Given the description of an element on the screen output the (x, y) to click on. 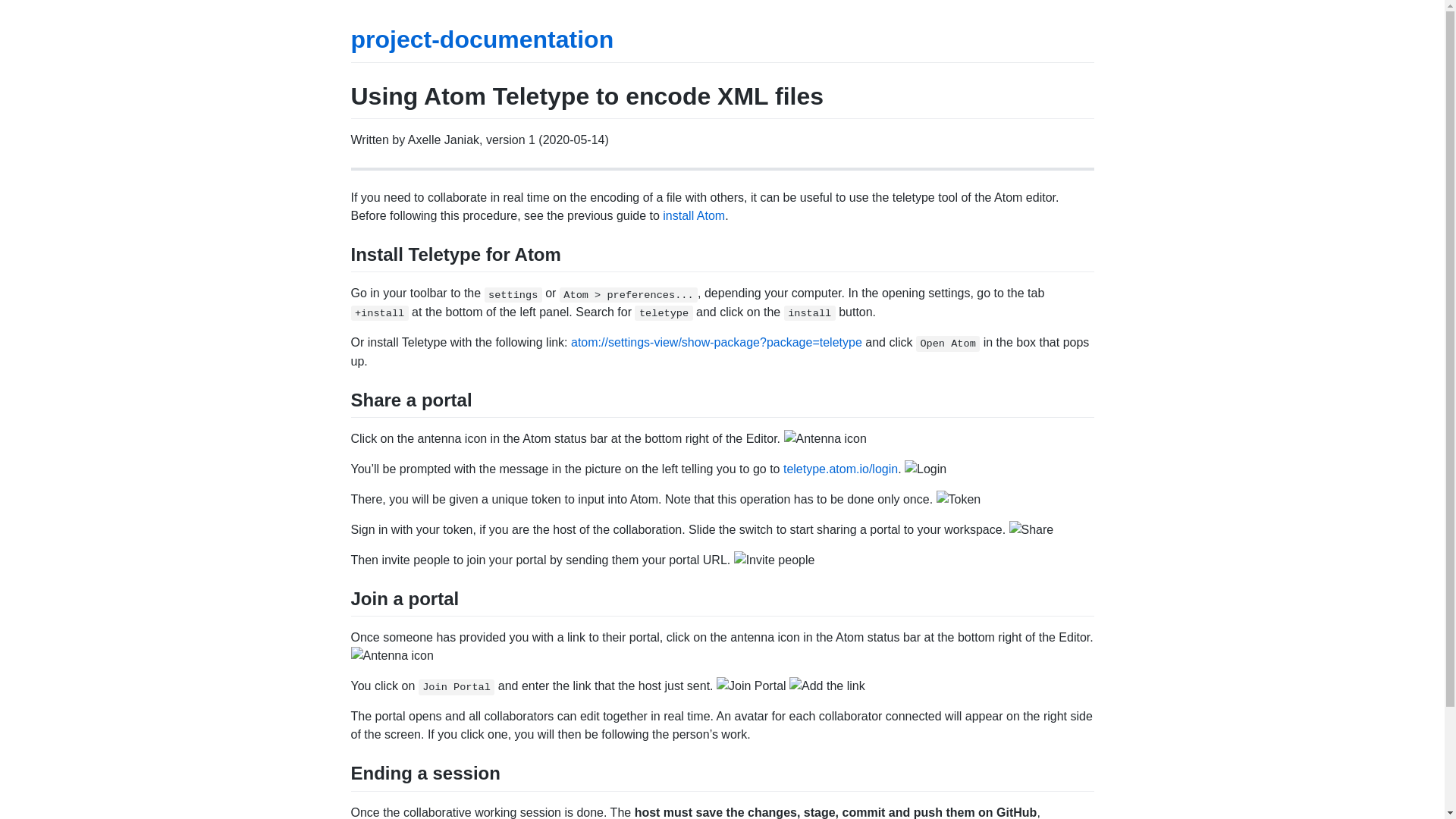
install Atom (693, 215)
project-documentation (481, 39)
